Given the description of an element on the screen output the (x, y) to click on. 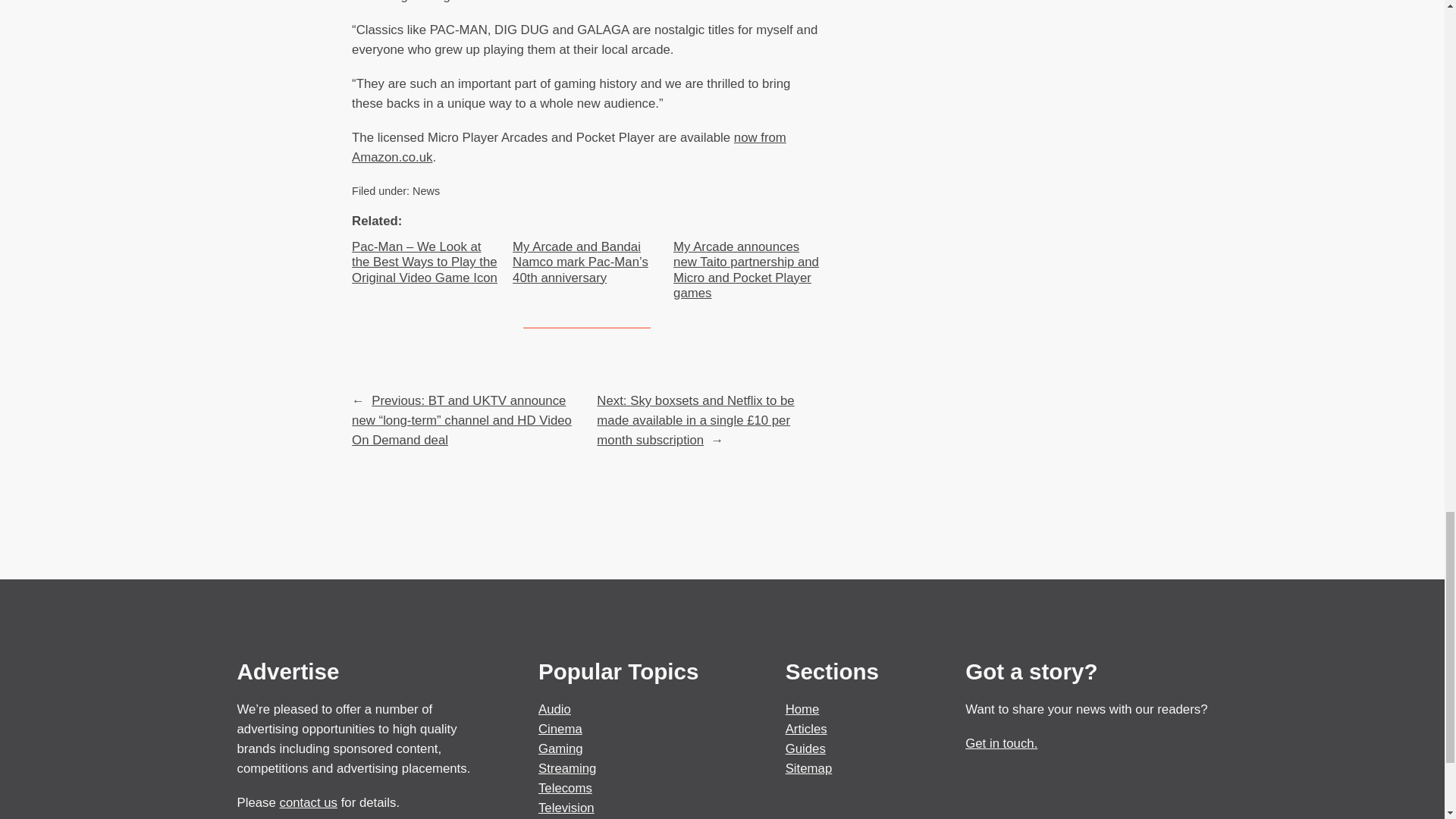
Audio (554, 708)
Cinema (560, 728)
Gaming (560, 748)
Articles (806, 728)
Television (566, 807)
Streaming (566, 768)
Guides (805, 748)
Sitemap (809, 768)
Telecoms (565, 788)
Home (802, 708)
contact us (308, 802)
News (425, 191)
Get in touch. (1000, 743)
now from Amazon.co.uk (569, 147)
